Given the description of an element on the screen output the (x, y) to click on. 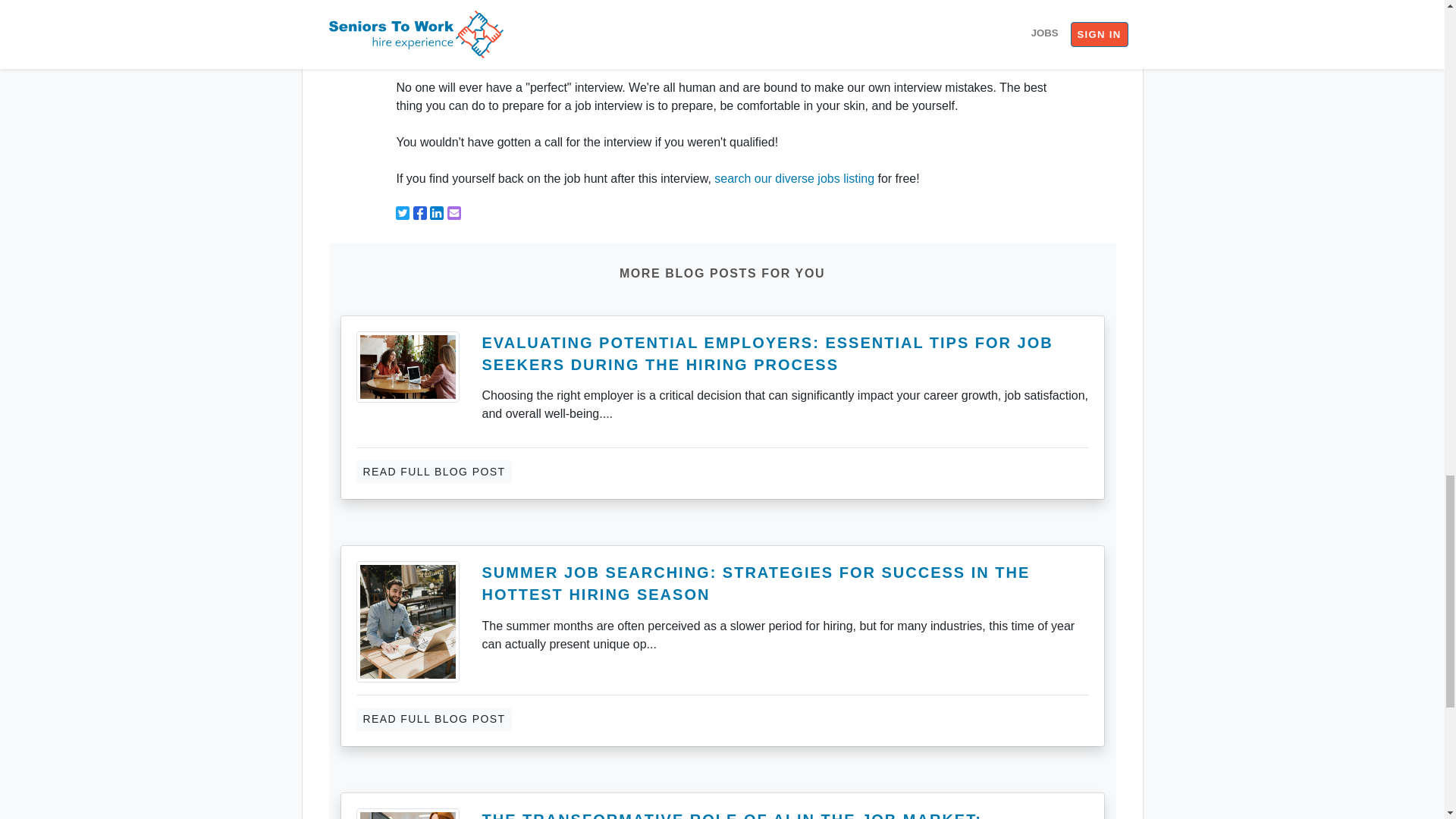
READ FULL BLOG POST (434, 719)
Share to Email (453, 213)
READ FULL BLOG POST (434, 472)
Share to Facebook (419, 213)
Share to Linkedin (436, 213)
Share to Twitter (402, 213)
